Given the description of an element on the screen output the (x, y) to click on. 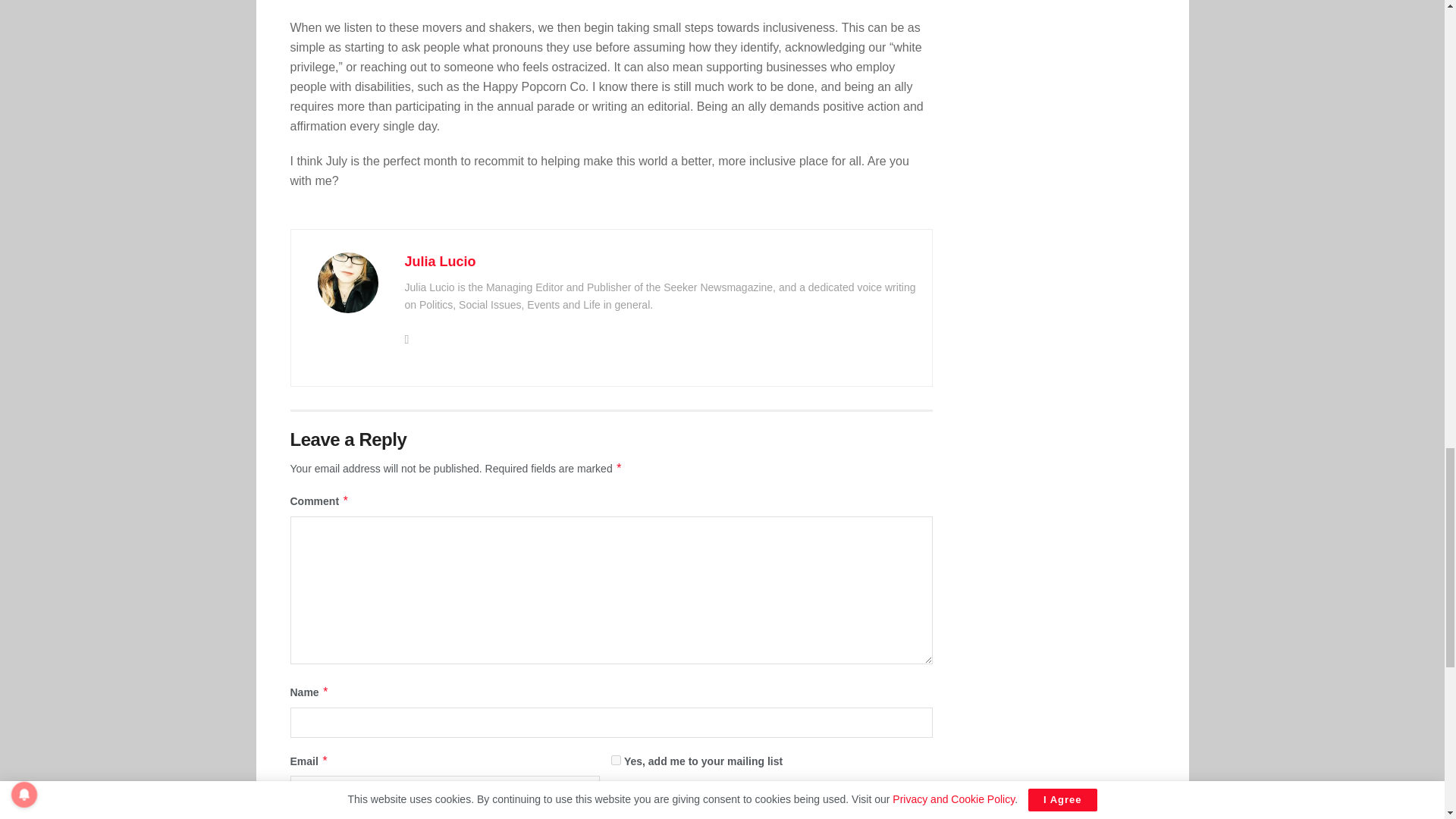
1 (616, 759)
